Given the description of an element on the screen output the (x, y) to click on. 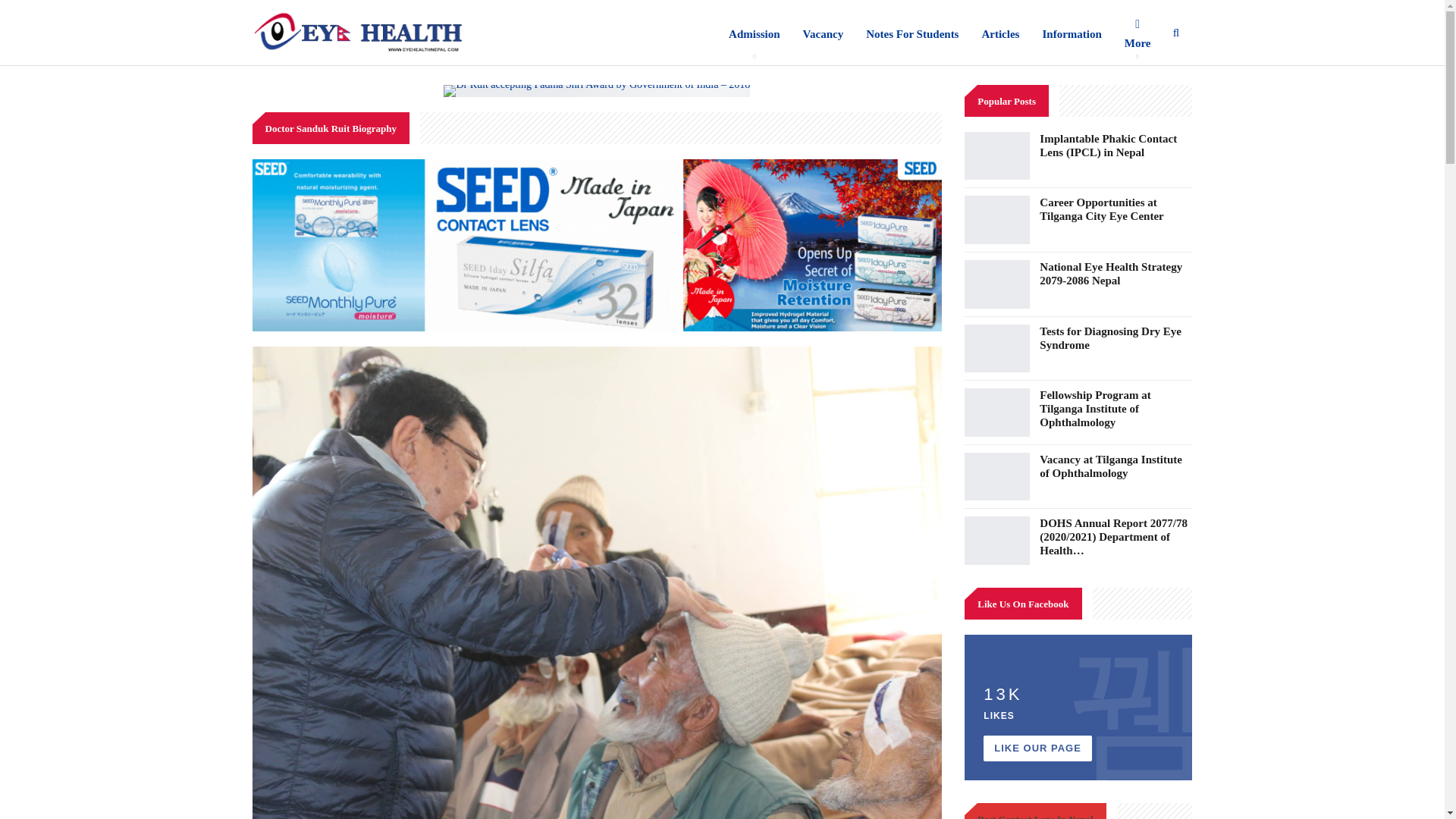
Admission (754, 33)
Notes For Students (911, 33)
Career Opportunities at Tilganga City Eye Center (996, 219)
Tests for Diagnosing Dry Eye Syndrome (1109, 338)
Information (1071, 33)
National Eye Health Strategy 2079-2086 Nepal (1110, 273)
Vacancy (824, 33)
National Eye Health Strategy 2079-2086 Nepal (996, 284)
Tests for Diagnosing Dry Eye Syndrome (996, 348)
Fellowship Program at Tilganga Institute of Ophthalmology (996, 412)
